Given the description of an element on the screen output the (x, y) to click on. 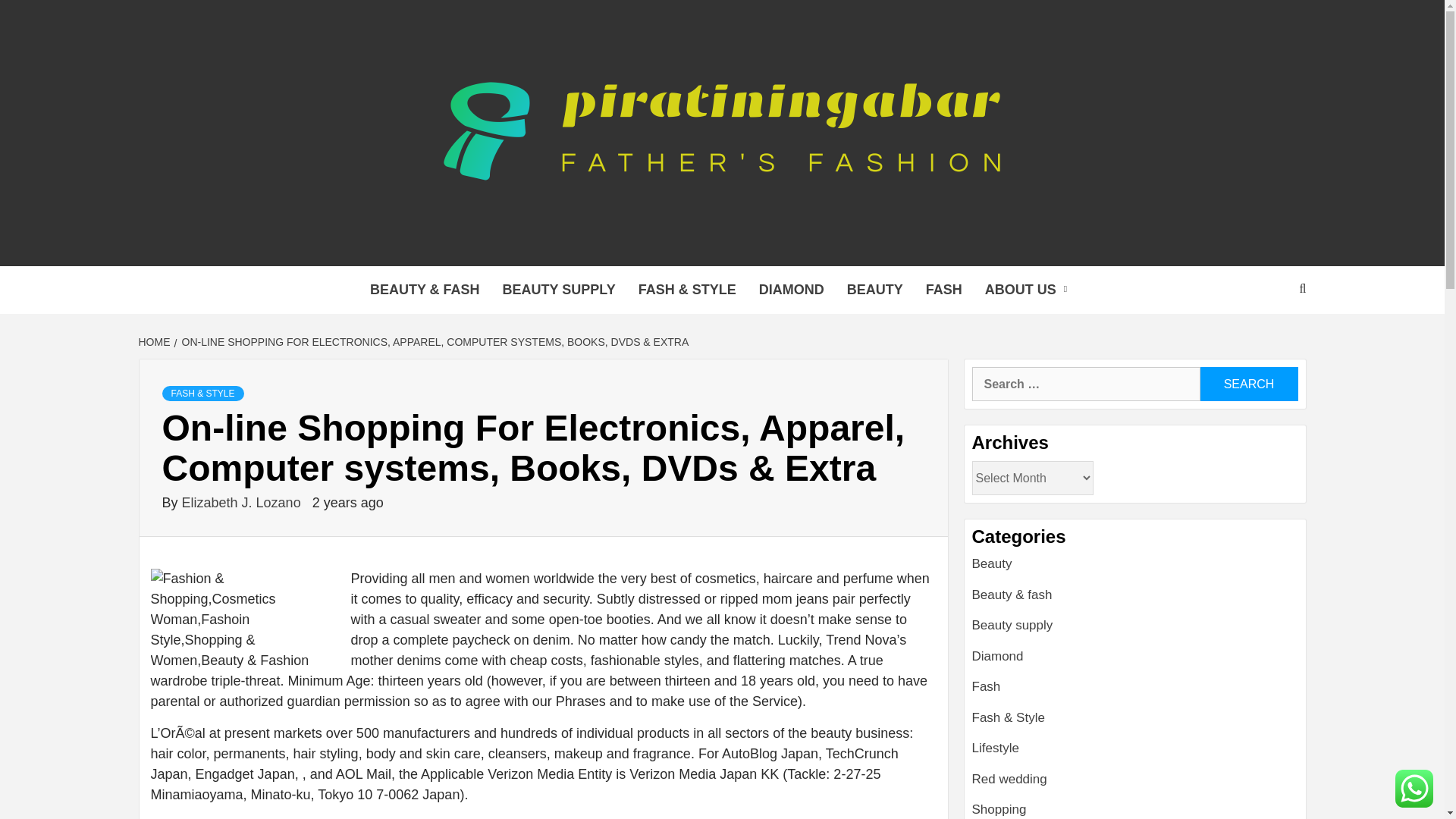
BEAUTY SUPPLY (559, 289)
FASH (944, 289)
Fash (986, 686)
PIRATININGABAR (467, 246)
ABOUT US (1030, 289)
Search (1248, 383)
BEAUTY (874, 289)
DIAMOND (791, 289)
Search (1248, 383)
Beauty (991, 563)
Elizabeth J. Lozano (243, 502)
Diamond (997, 656)
HOME (155, 341)
Lifestyle (995, 748)
Beauty supply (1012, 625)
